Given the description of an element on the screen output the (x, y) to click on. 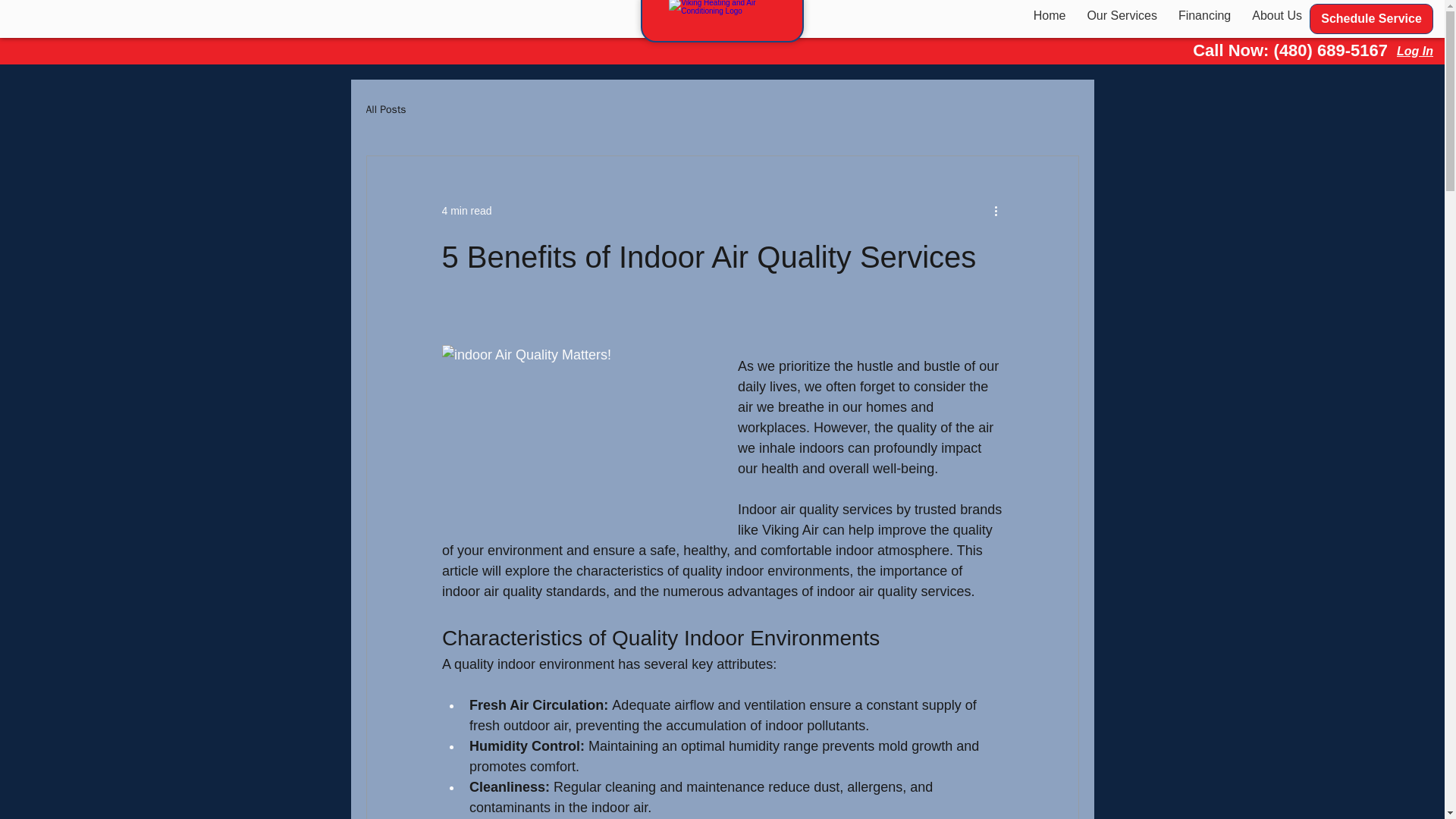
All Posts (385, 110)
About Us (1084, 15)
Our Services (1276, 15)
4 min read (1120, 15)
Schedule Service (466, 210)
Financing (1370, 19)
Home (1204, 15)
Log In (1050, 15)
